Given the description of an element on the screen output the (x, y) to click on. 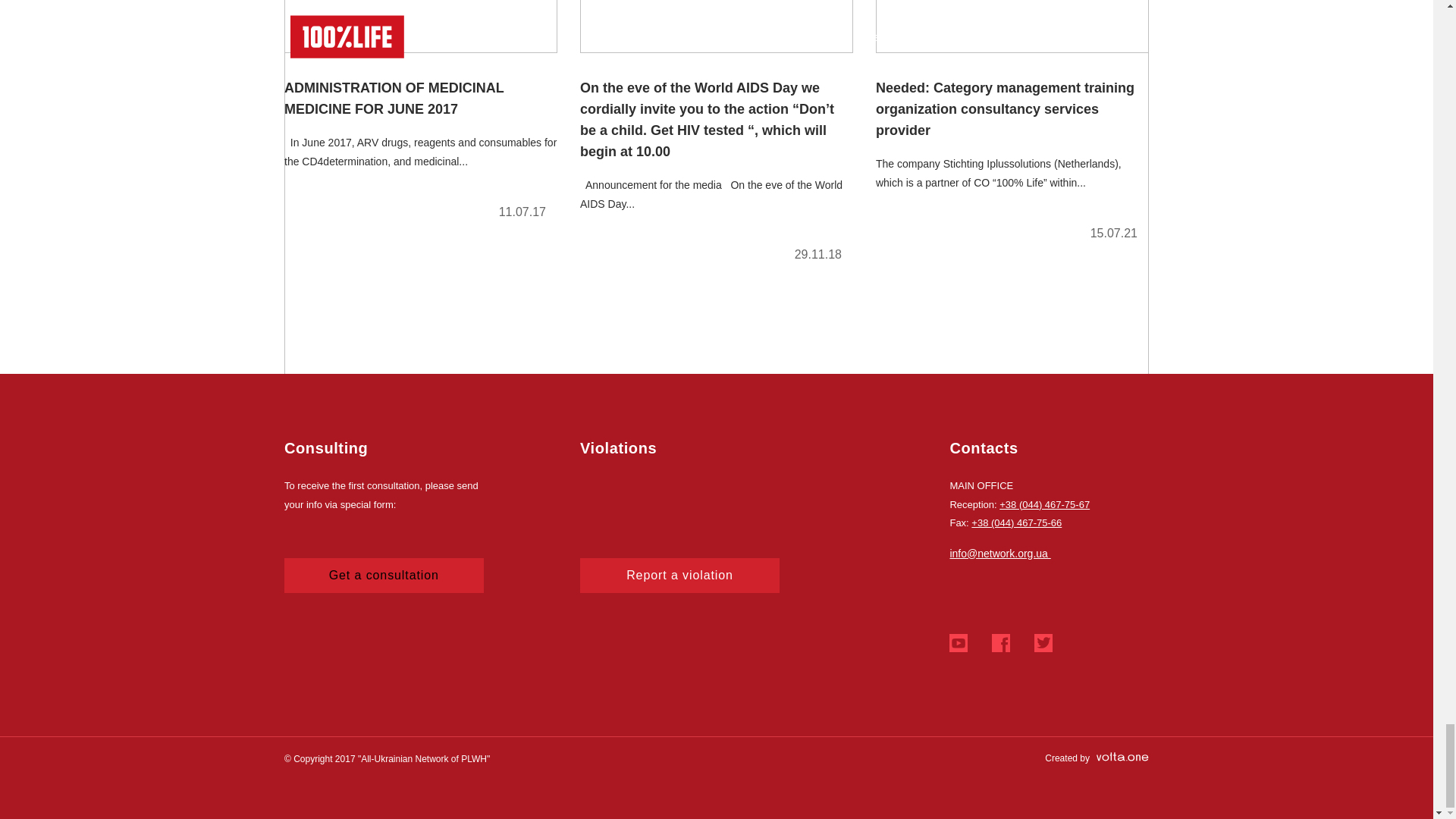
Created by (1096, 757)
ADMINISTRATION OF MEDICINAL MEDICINE FOR JUNE 2017 (420, 116)
Get a consultation (383, 574)
Get a consultation (383, 574)
Report a violation (678, 574)
Report a violation (678, 574)
